Given the description of an element on the screen output the (x, y) to click on. 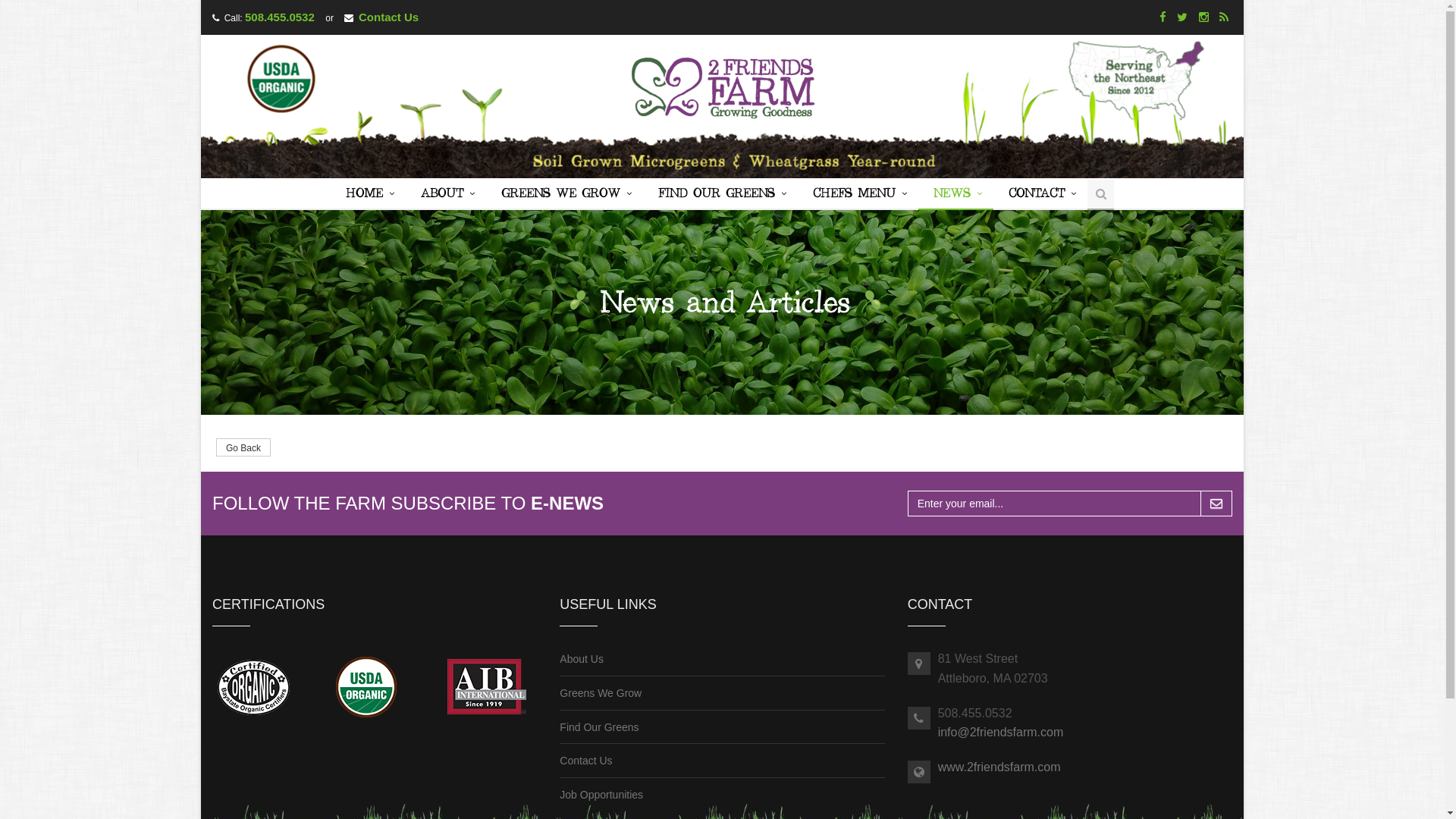
Contact Us Element type: text (388, 16)
info@2friendsfarm.com Element type: text (1000, 731)
Job Opportunities Element type: text (601, 794)
Go Back Element type: text (243, 447)
www.2friendsfarm.com Element type: text (999, 766)
About Us Element type: text (581, 658)
GREENS WE GROW Element type: text (564, 194)
Greens We Grow Element type: text (600, 692)
ABOUT Element type: text (445, 194)
508.455.0532 Element type: text (279, 16)
CHEFS MENU Element type: text (857, 194)
CONTACT Element type: text (1040, 194)
NEWS Element type: text (955, 194)
HOME Element type: text (367, 194)
FIND OUR GREENS Element type: text (720, 194)
Contact Us Element type: text (585, 760)
Find Our Greens Element type: text (598, 726)
